Given the description of an element on the screen output the (x, y) to click on. 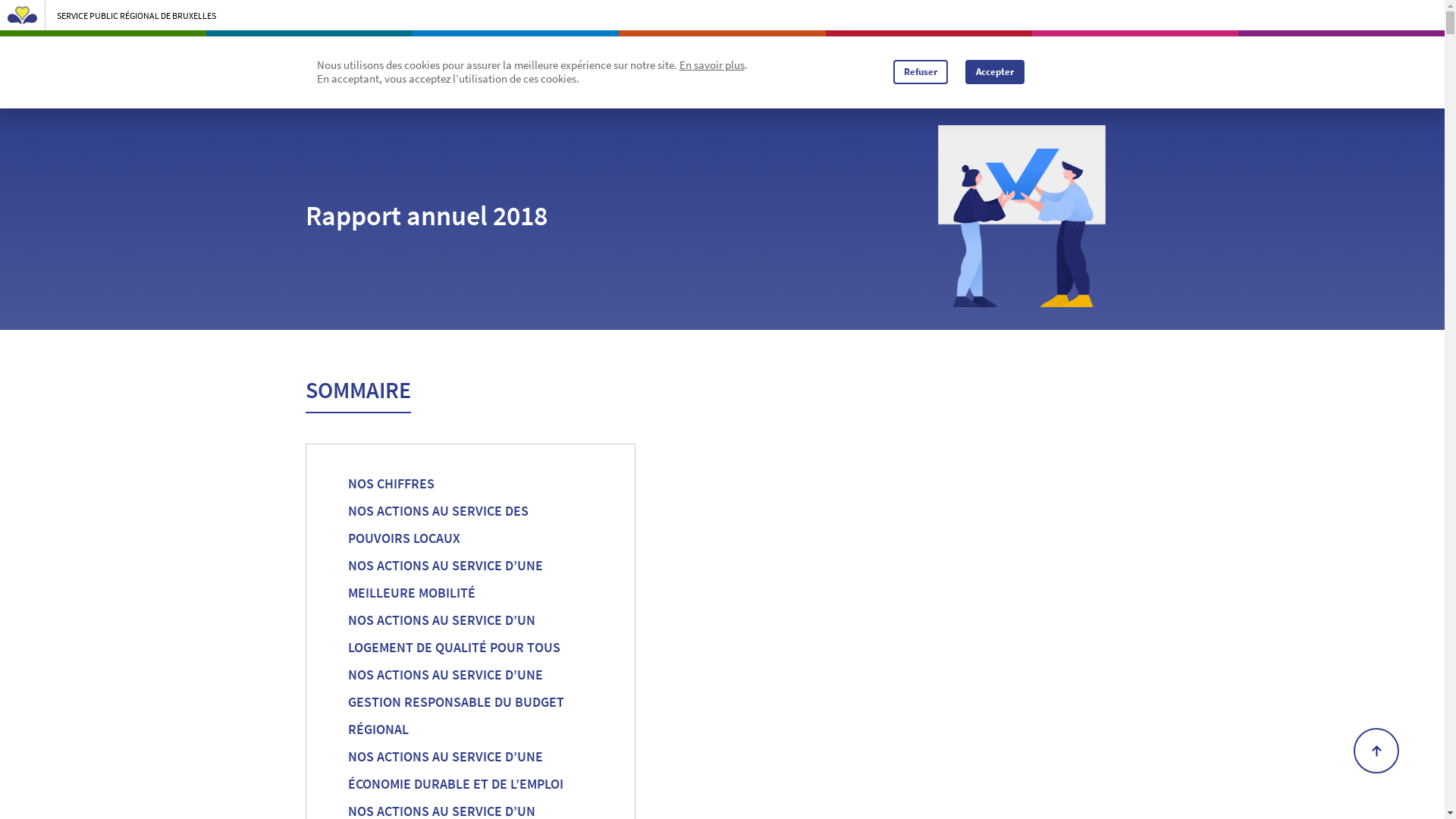
NOS CHIFFRES Element type: text (469, 483)
NL Element type: text (1104, 64)
Nos chiffres Element type: text (721, 64)
En savoir plus Element type: text (711, 64)
Accepter Element type: text (993, 71)
Refuser Element type: text (920, 71)
Nos engagements Element type: text (806, 64)
NOS ACTIONS AU SERVICE DES POUVOIRS LOCAUX Element type: text (469, 524)
Nos actions Element type: text (898, 64)
Nos perspectives Element type: text (986, 64)
